Given the description of an element on the screen output the (x, y) to click on. 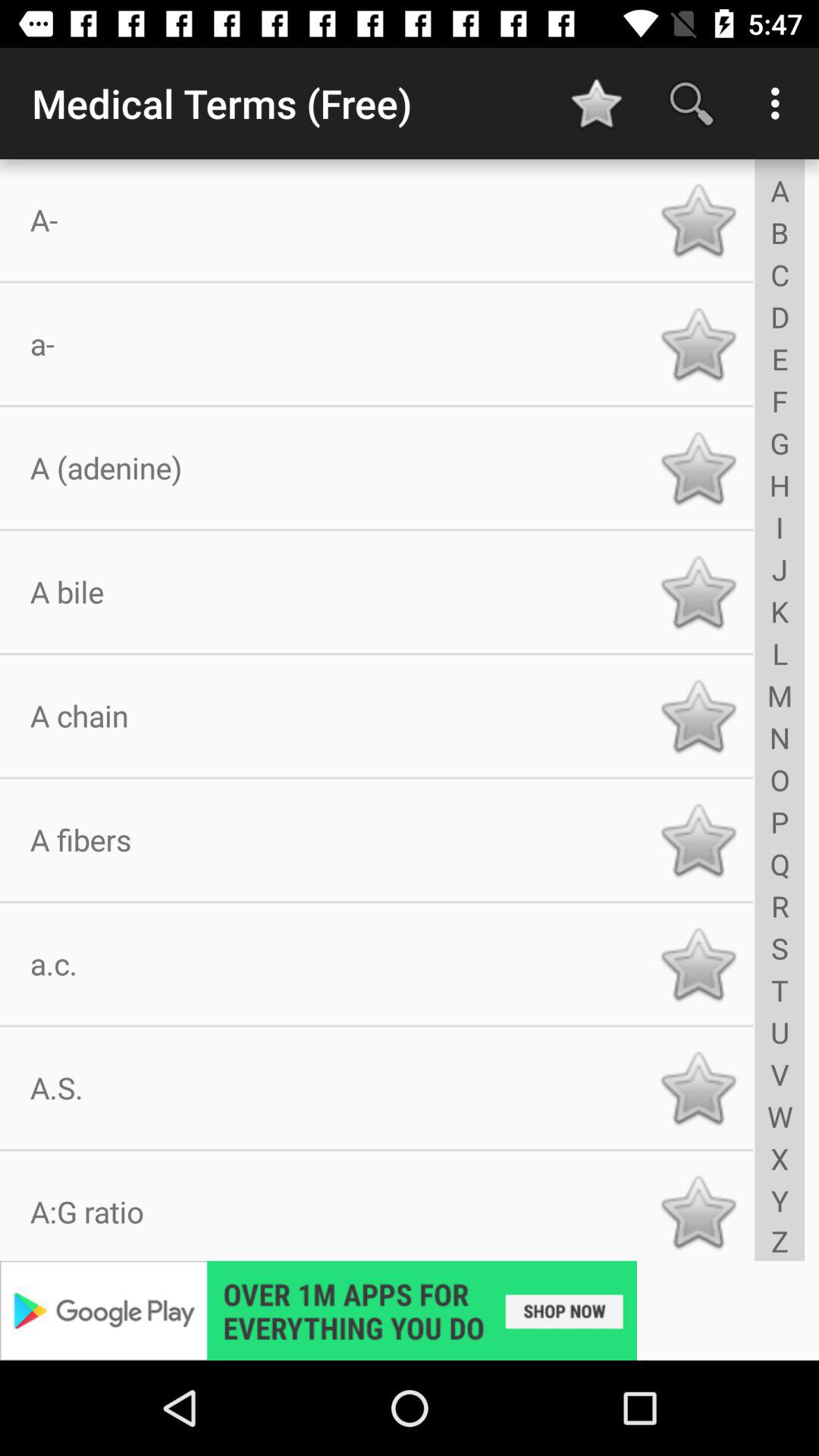
star button (697, 839)
